Given the description of an element on the screen output the (x, y) to click on. 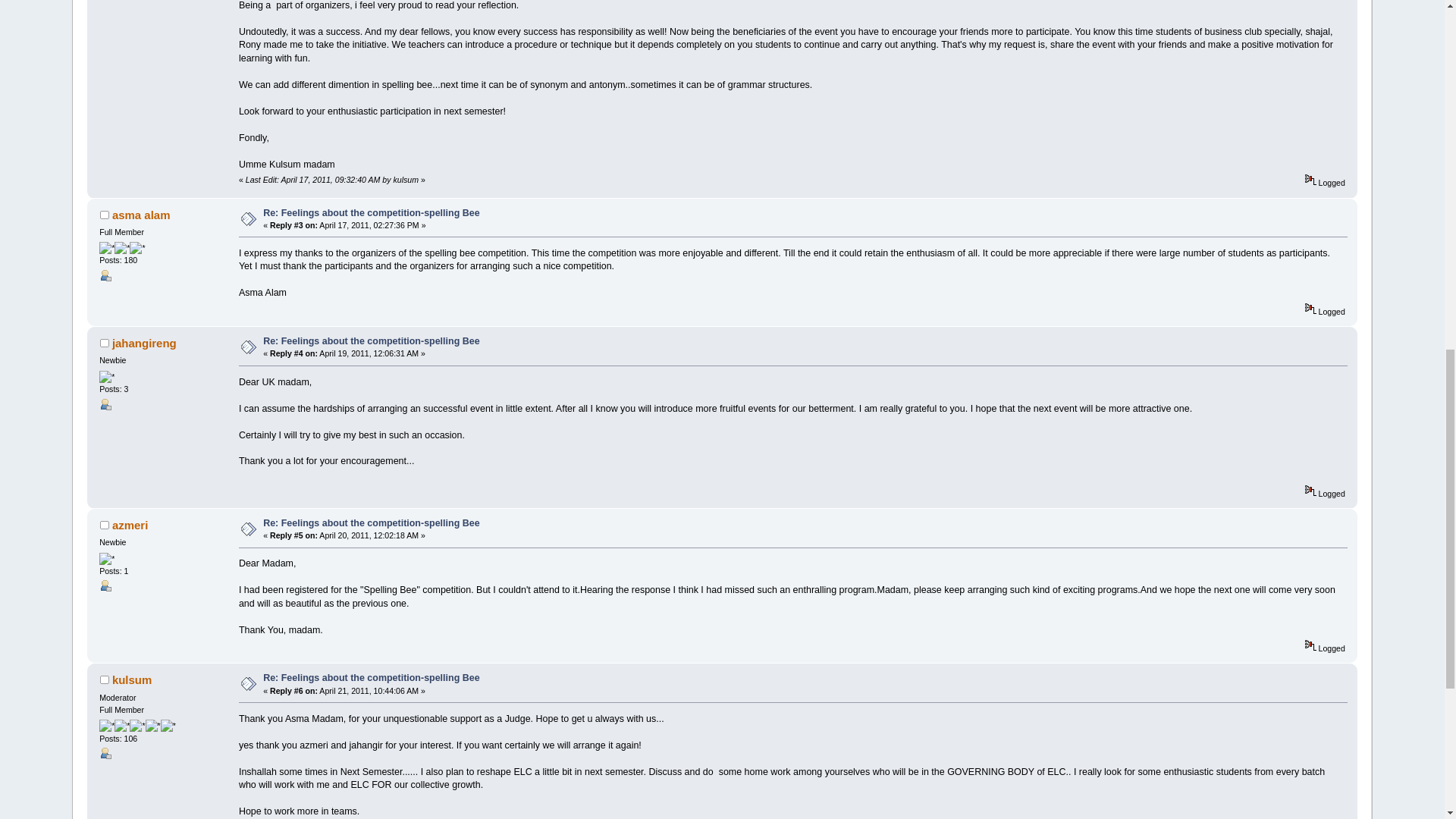
View Profile (105, 404)
View Profile (105, 275)
View the profile of asma alam (141, 214)
View Profile (105, 585)
asma alam (141, 214)
Re: Feelings about the competition-spelling Bee (371, 213)
View Profile (105, 752)
View the profile of kulsum (131, 679)
View the profile of azmeri (130, 524)
View the profile of jahangireng (144, 342)
